Given the description of an element on the screen output the (x, y) to click on. 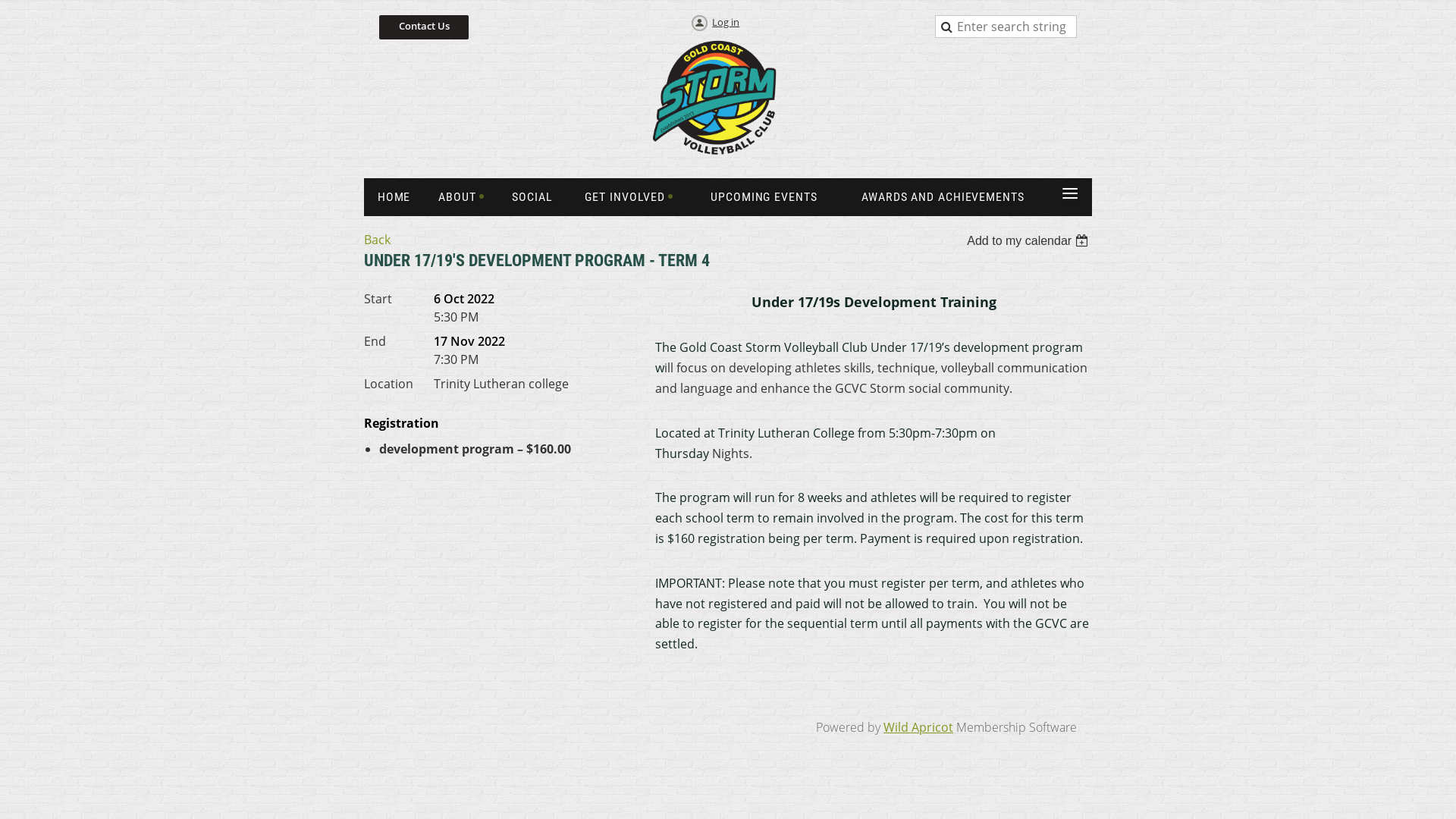
GET INVOLVED Element type: text (628, 197)
UPCOMING EVENTS Element type: text (763, 197)
Back Element type: text (377, 239)
Contact Us Element type: text (423, 27)
HOME Element type: text (393, 197)
SOCIAL Element type: text (532, 197)
ABOUT Element type: text (460, 197)
AWARDS AND ACHIEVEMENTS Element type: text (942, 197)
Log in Element type: text (714, 24)
Wild Apricot Element type: text (918, 726)
